Given the description of an element on the screen output the (x, y) to click on. 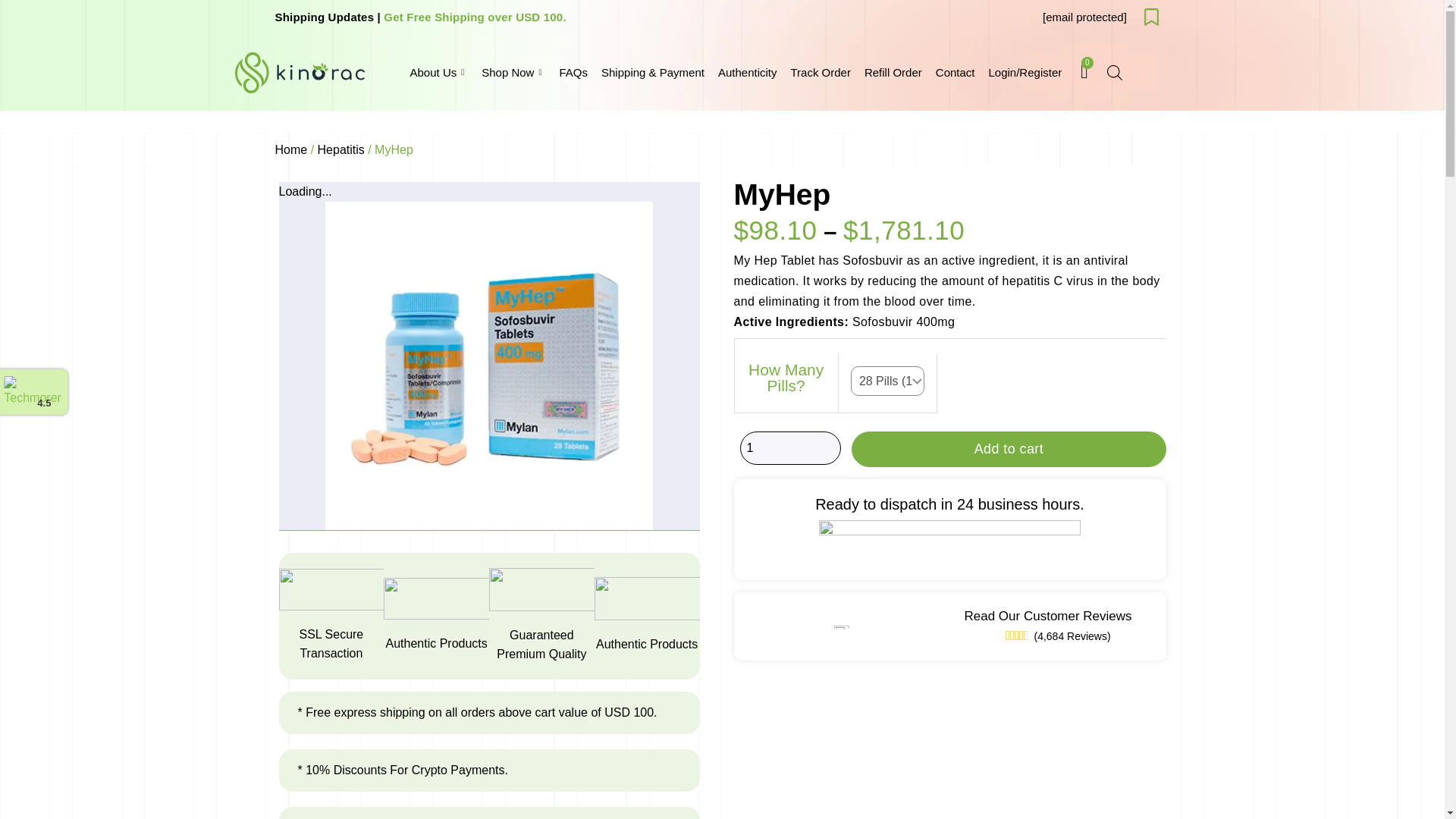
Track Order (820, 72)
MyHep (488, 365)
Refill Order (892, 72)
1 (790, 448)
Authenticity (747, 72)
Shop Now (512, 72)
About Us (439, 72)
